Given the description of an element on the screen output the (x, y) to click on. 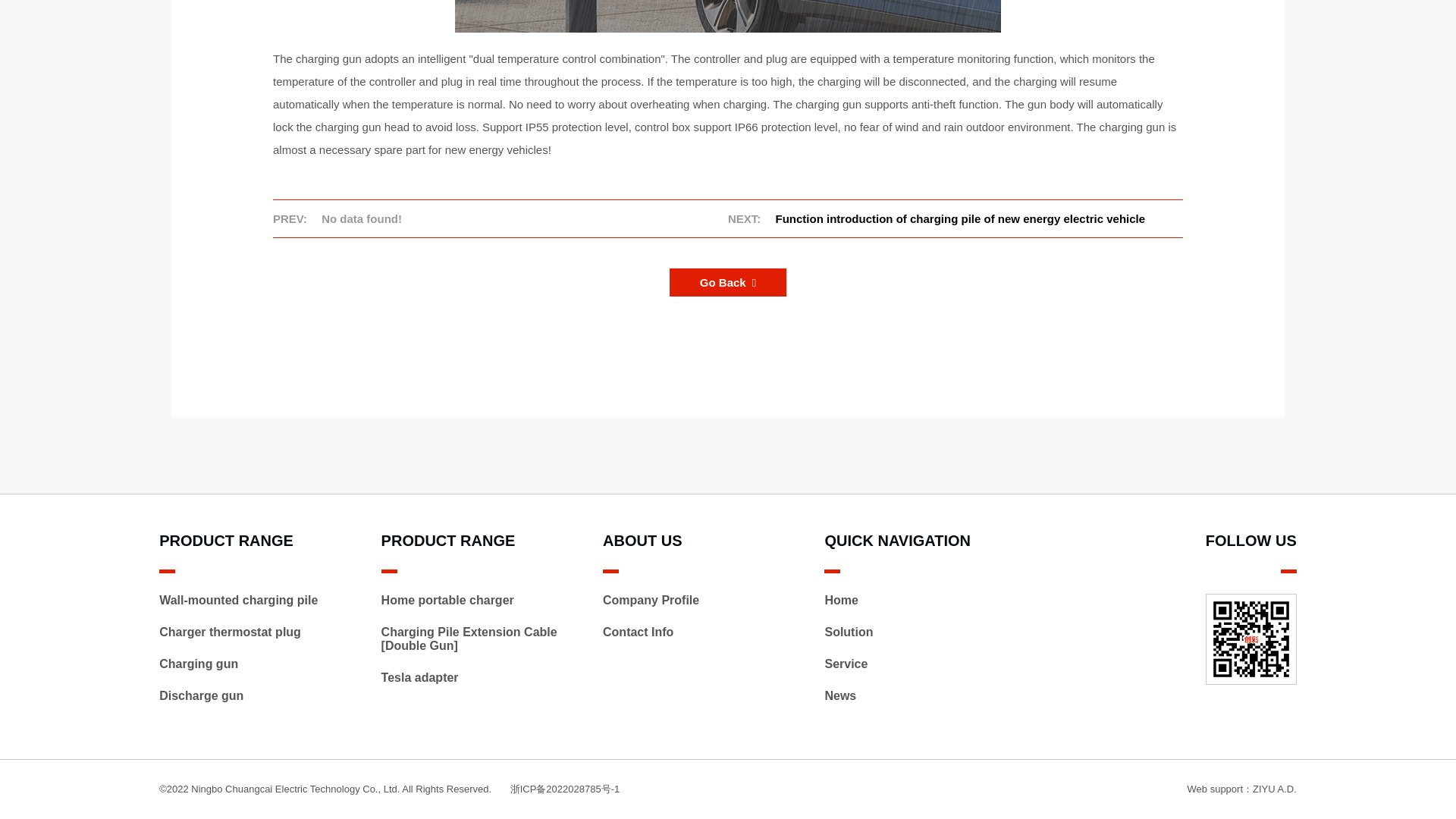
News (840, 695)
Solution (848, 631)
Company Profile (650, 599)
Wall-mounted charging pile (237, 599)
Home portable charger (447, 599)
Charging gun (198, 663)
Charger thermostat plug (229, 631)
Discharge gun (200, 695)
Home (840, 599)
Go Back (727, 282)
